Given the description of an element on the screen output the (x, y) to click on. 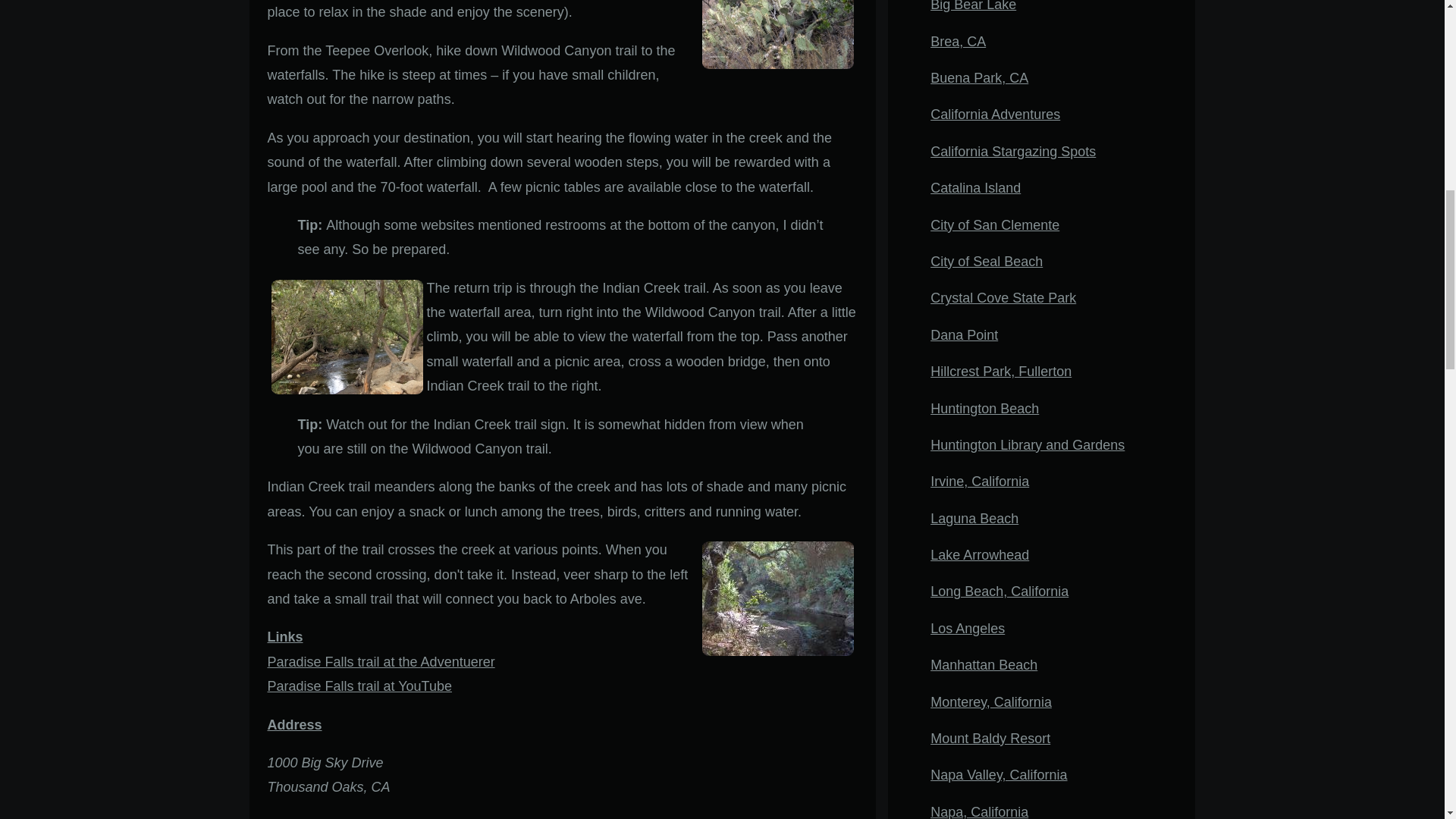
Paradise Falls trail at YouTube (358, 685)
Paradise Falls trail at the (343, 661)
Paradise Falls hike - stream (777, 598)
Adventuerer (457, 661)
